Given the description of an element on the screen output the (x, y) to click on. 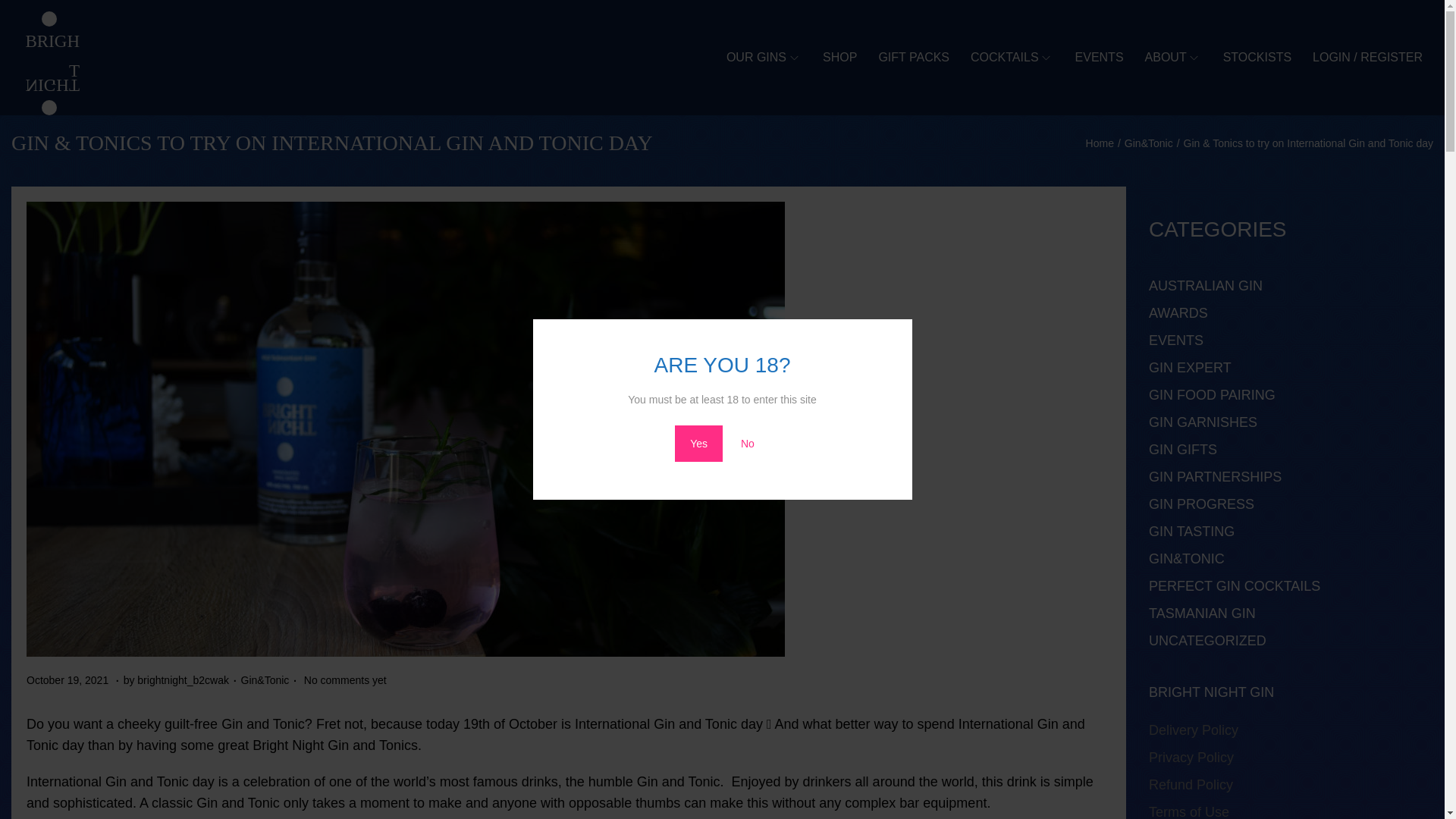
OUR GINS (764, 57)
COCKTAILS (69, 680)
STOCKISTS (1012, 57)
Yes (1257, 57)
Skip to navigation (698, 443)
No (1099, 143)
GIFT PACKS (747, 443)
No comments yet (913, 57)
